Given the description of an element on the screen output the (x, y) to click on. 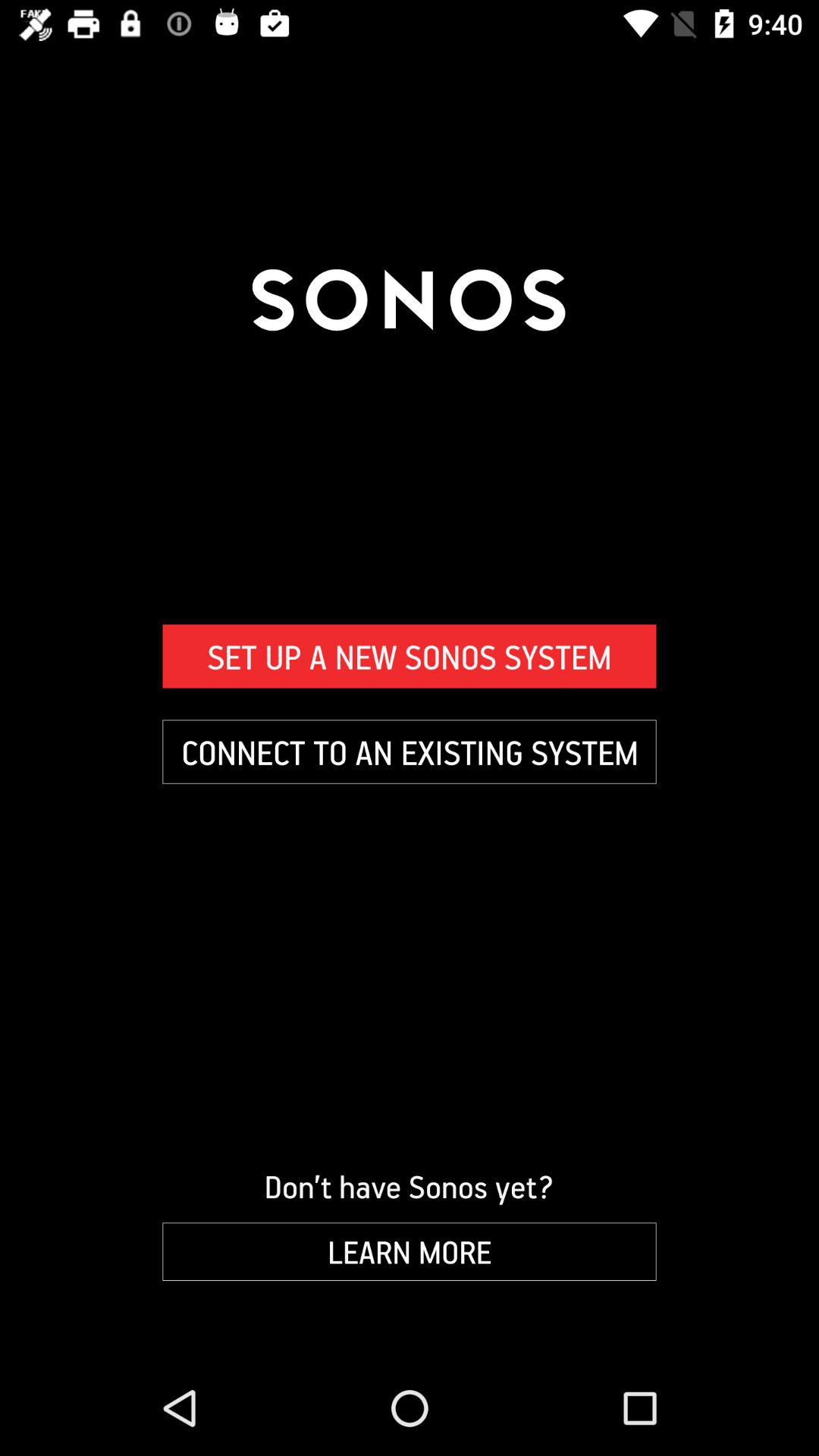
turn off icon below the set up a item (409, 751)
